Given the description of an element on the screen output the (x, y) to click on. 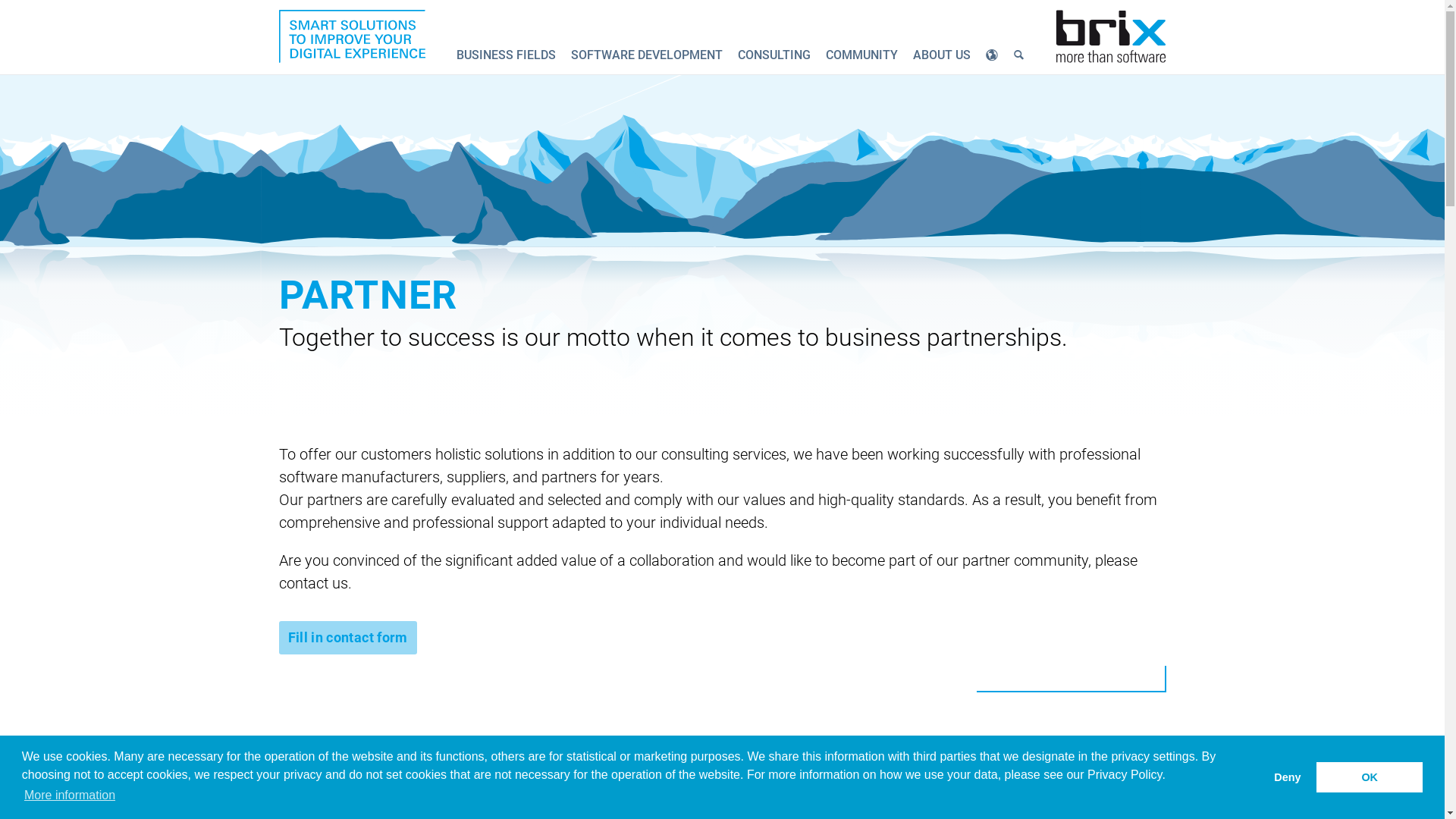
OK Element type: text (1369, 777)
CONSULTING Element type: text (774, 55)
Fill in contact form Element type: text (348, 637)
BUSINESS FIELDS Element type: text (505, 55)
More information Element type: text (69, 795)
Deny Element type: text (1287, 777)
ABOUT US Element type: text (941, 55)
COMMUNITY Element type: text (861, 55)
SOFTWARE DEVELOPMENT Element type: text (646, 55)
